Given the description of an element on the screen output the (x, y) to click on. 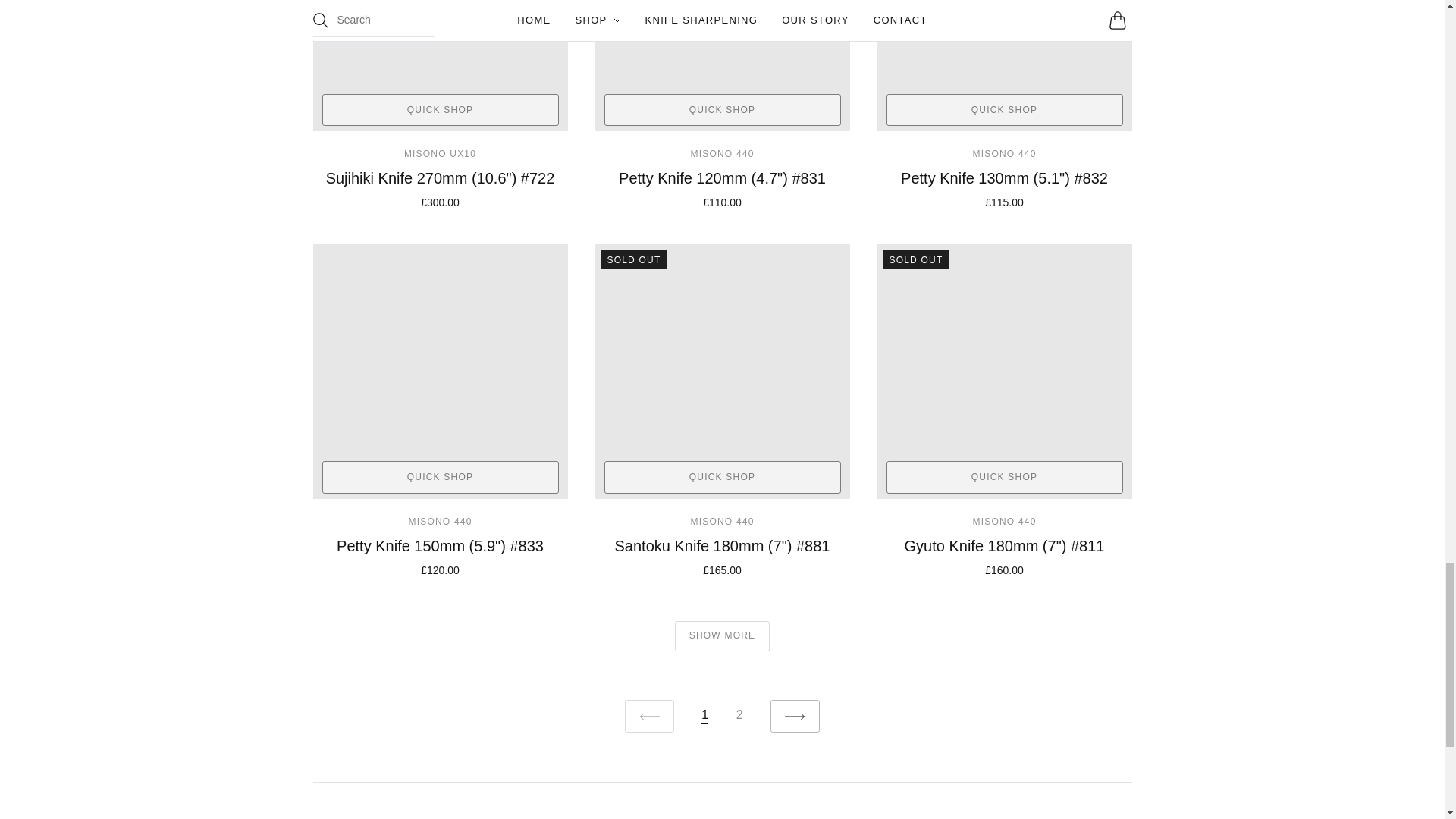
Misono 440 (722, 153)
SHOW MORE (722, 635)
SHOW MORE (722, 635)
Misono 440 (1003, 521)
Misono UX10 (440, 153)
Misono 440 (722, 521)
Misono 440 (1003, 153)
Misono 440 (439, 521)
